Given the description of an element on the screen output the (x, y) to click on. 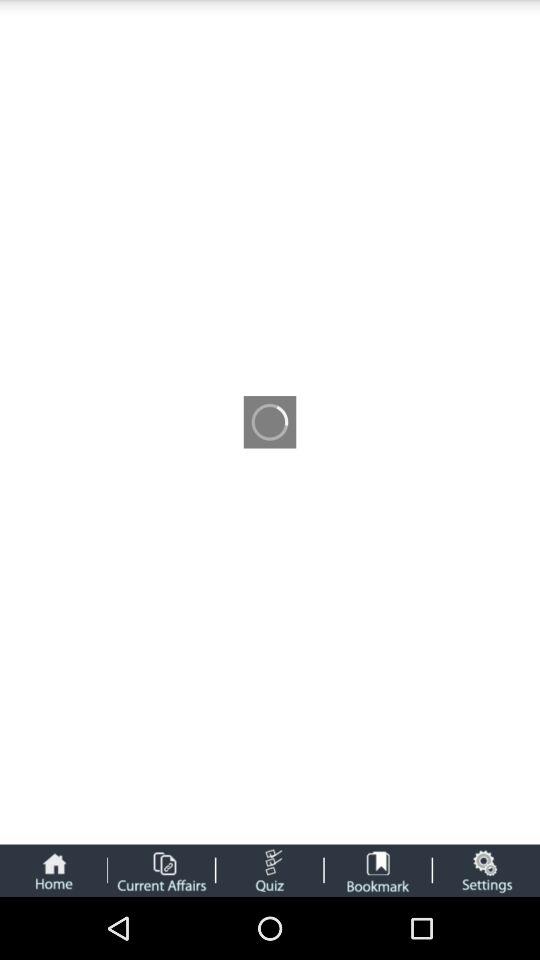
select quiz (269, 870)
